Given the description of an element on the screen output the (x, y) to click on. 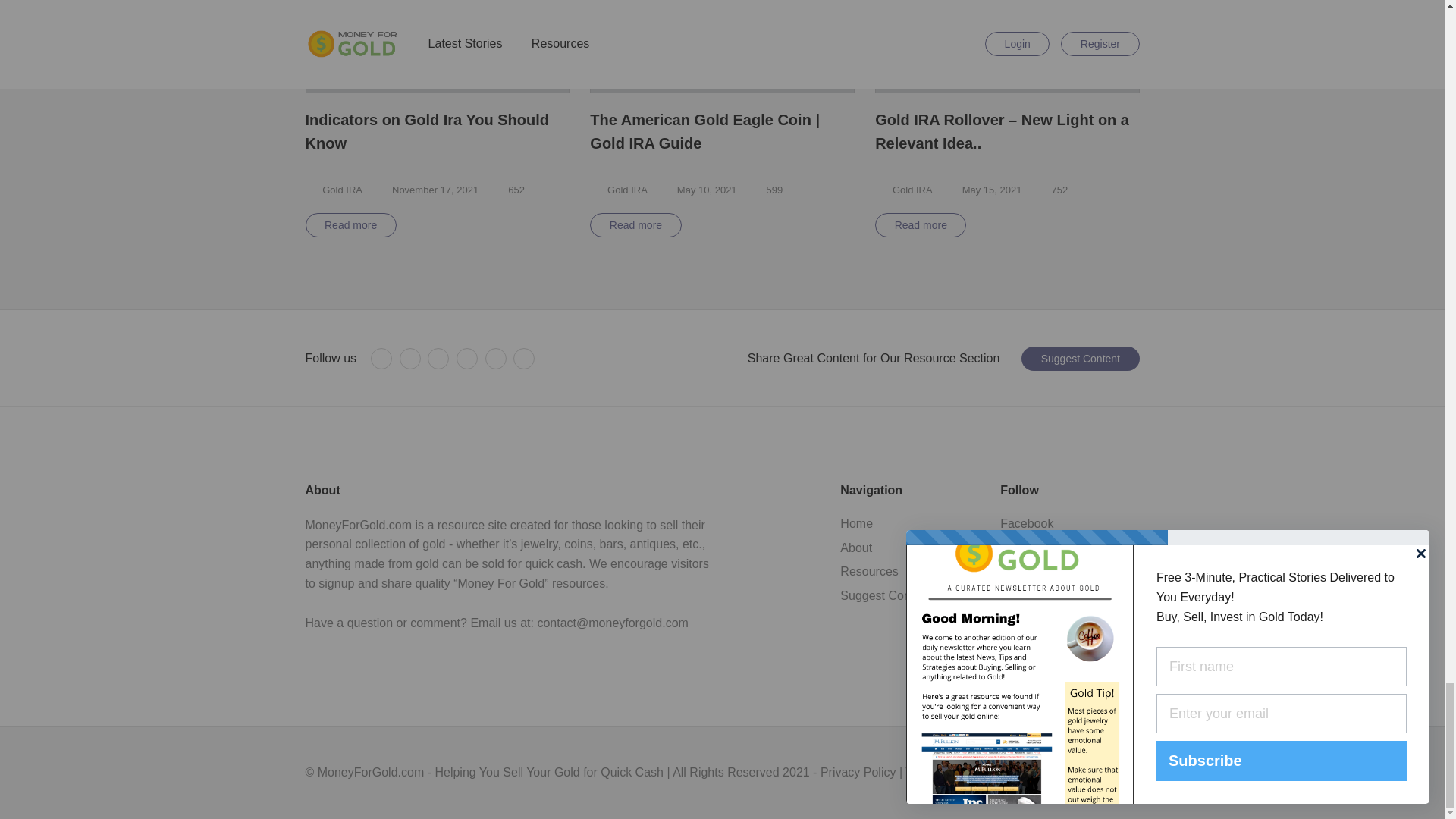
Read more (635, 224)
Gold IRA (627, 189)
Facebook (381, 358)
Read more (350, 224)
Gold IRA (341, 189)
Indicators on Gold Ira You Should Know (436, 131)
Terms (333, 189)
Read more (920, 224)
Gold IRA (912, 189)
